Given the description of an element on the screen output the (x, y) to click on. 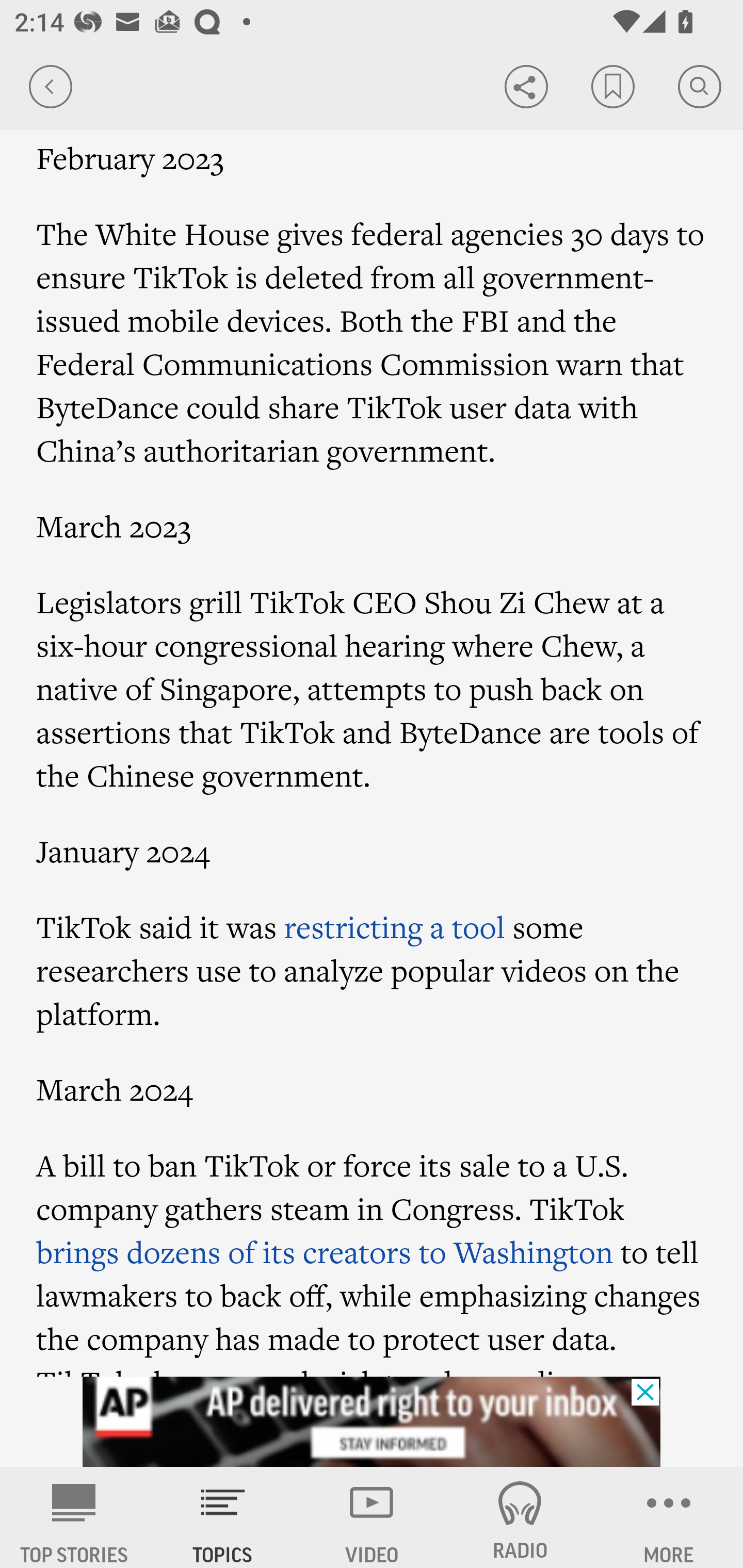
restricting a tool (394, 926)
brings dozens of its creators to Washington (324, 1251)
AP News TOP STORIES (74, 1517)
TOPICS (222, 1517)
VIDEO (371, 1517)
RADIO (519, 1517)
MORE (668, 1517)
